Given the description of an element on the screen output the (x, y) to click on. 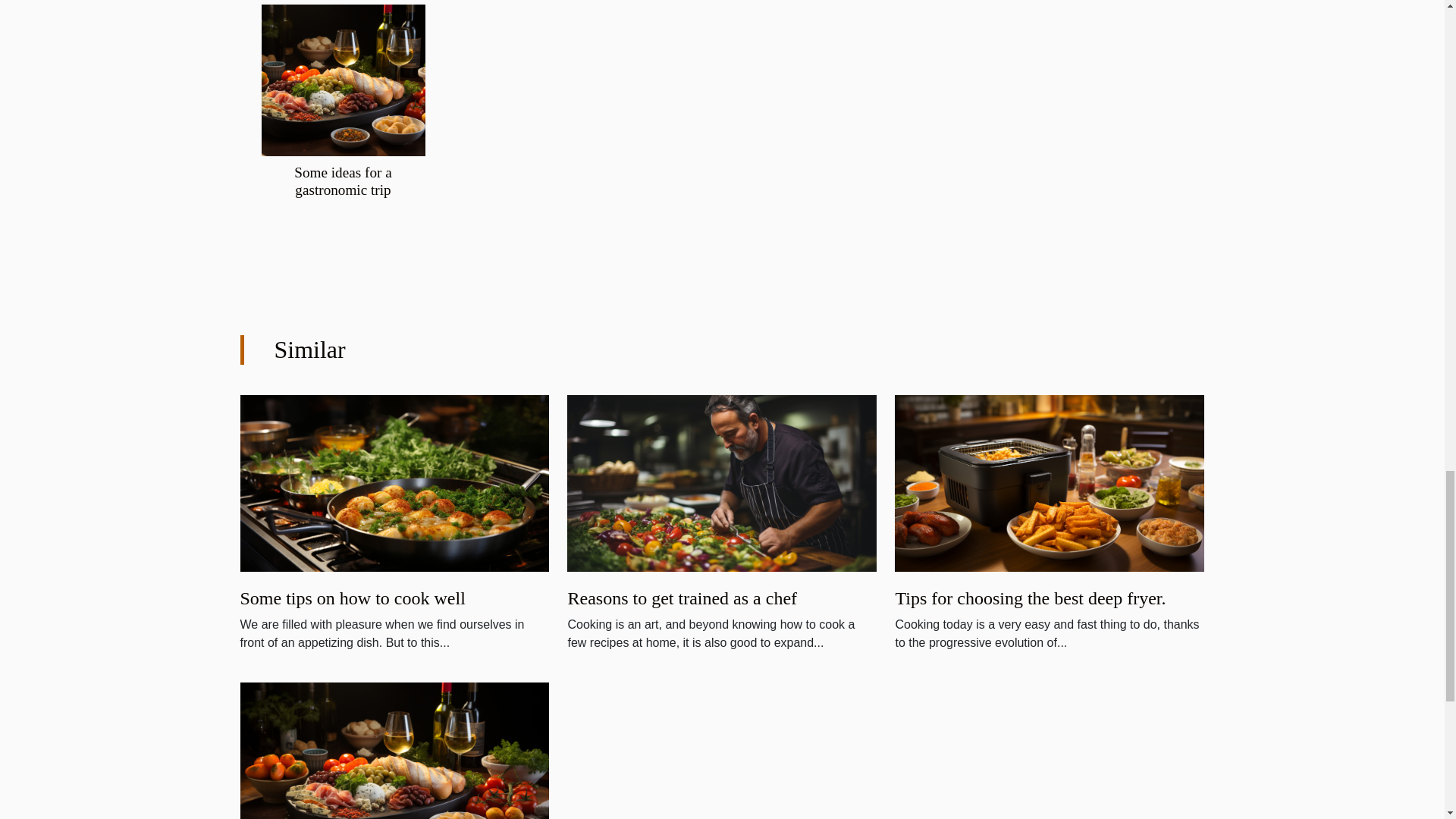
Reasons to get trained as a chef (721, 481)
Tips for choosing the best deep fryer. (1030, 598)
Some tips on how to cook well (394, 481)
Reasons to get trained as a chef (681, 598)
Some ideas for a gastronomic trip (342, 181)
Some tips on how to cook well (352, 598)
Tips for choosing the best deep fryer. (1030, 598)
Some tips on how to cook well (352, 598)
Some ideas for a gastronomic trip (342, 78)
Reasons to get trained as a chef (681, 598)
